Given the description of an element on the screen output the (x, y) to click on. 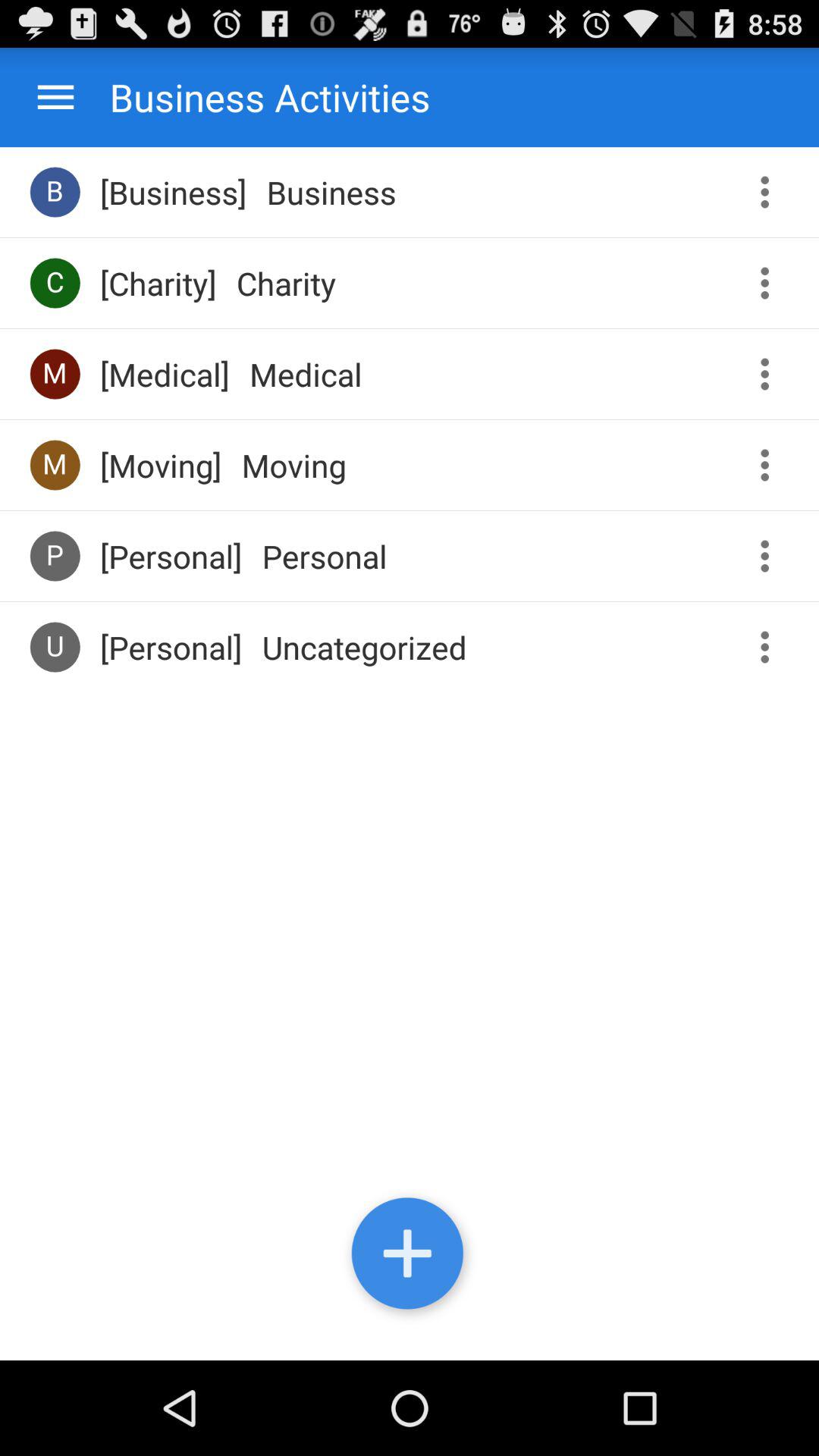
more options menu (770, 556)
